Given the description of an element on the screen output the (x, y) to click on. 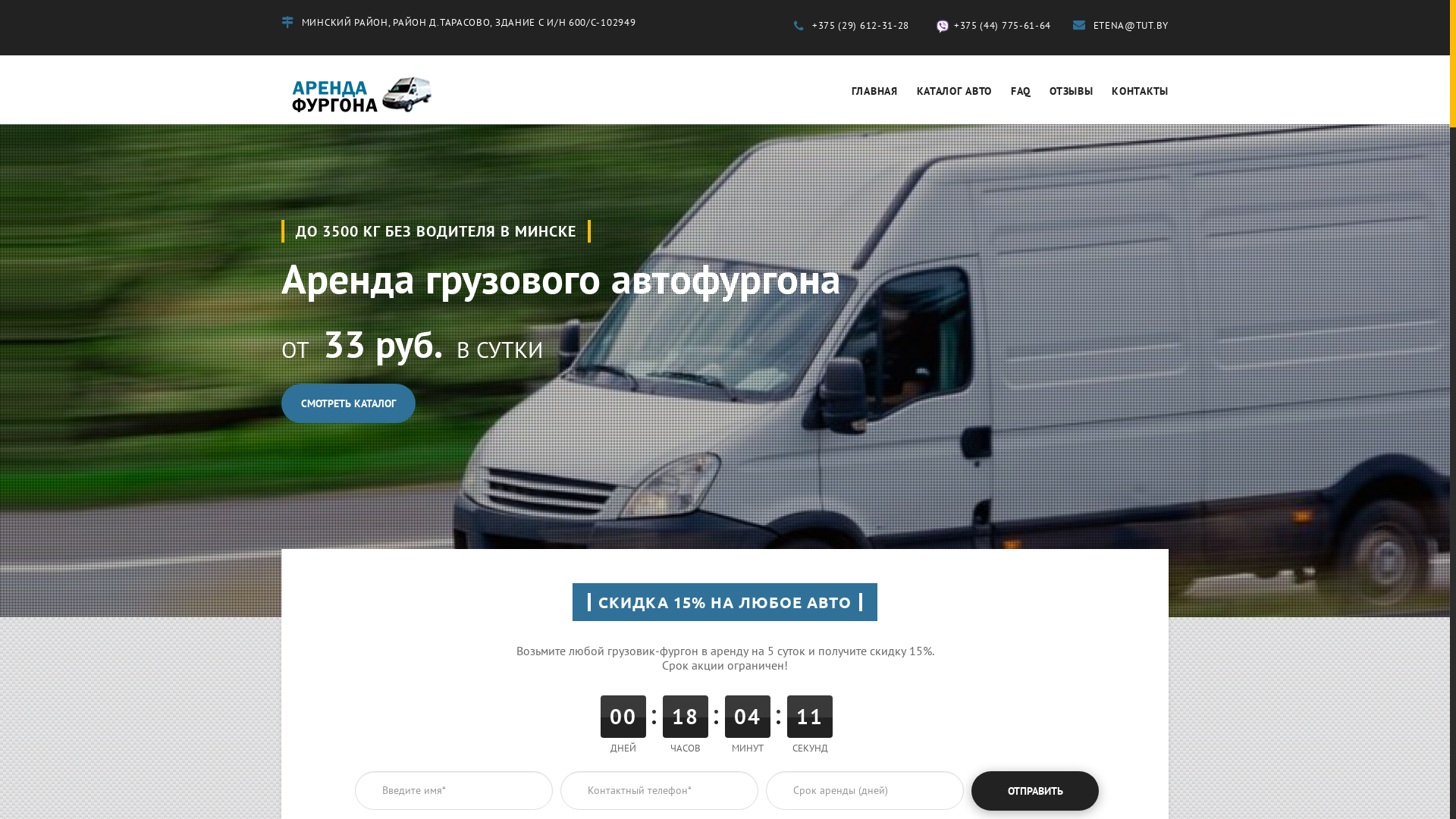
ETENA@TUT.BY Element type: text (1120, 24)
+375 (29) 612-31-28 Element type: text (851, 24)
FAQ Element type: text (1020, 90)
+375 (44) 775-61-64 Element type: text (991, 24)
